Given the description of an element on the screen output the (x, y) to click on. 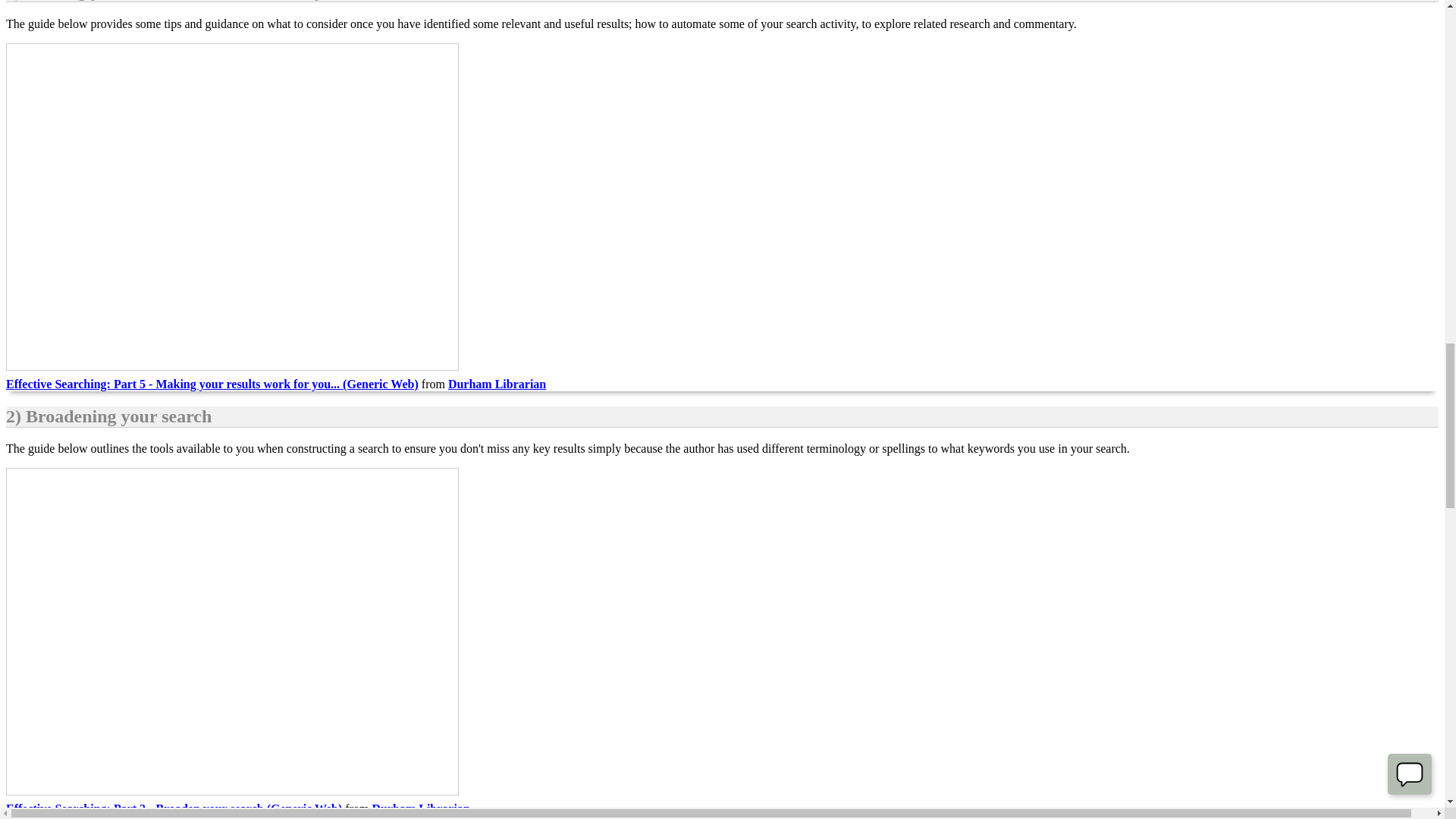
Durham Librarian (497, 383)
Durham Librarian (419, 808)
